Given the description of an element on the screen output the (x, y) to click on. 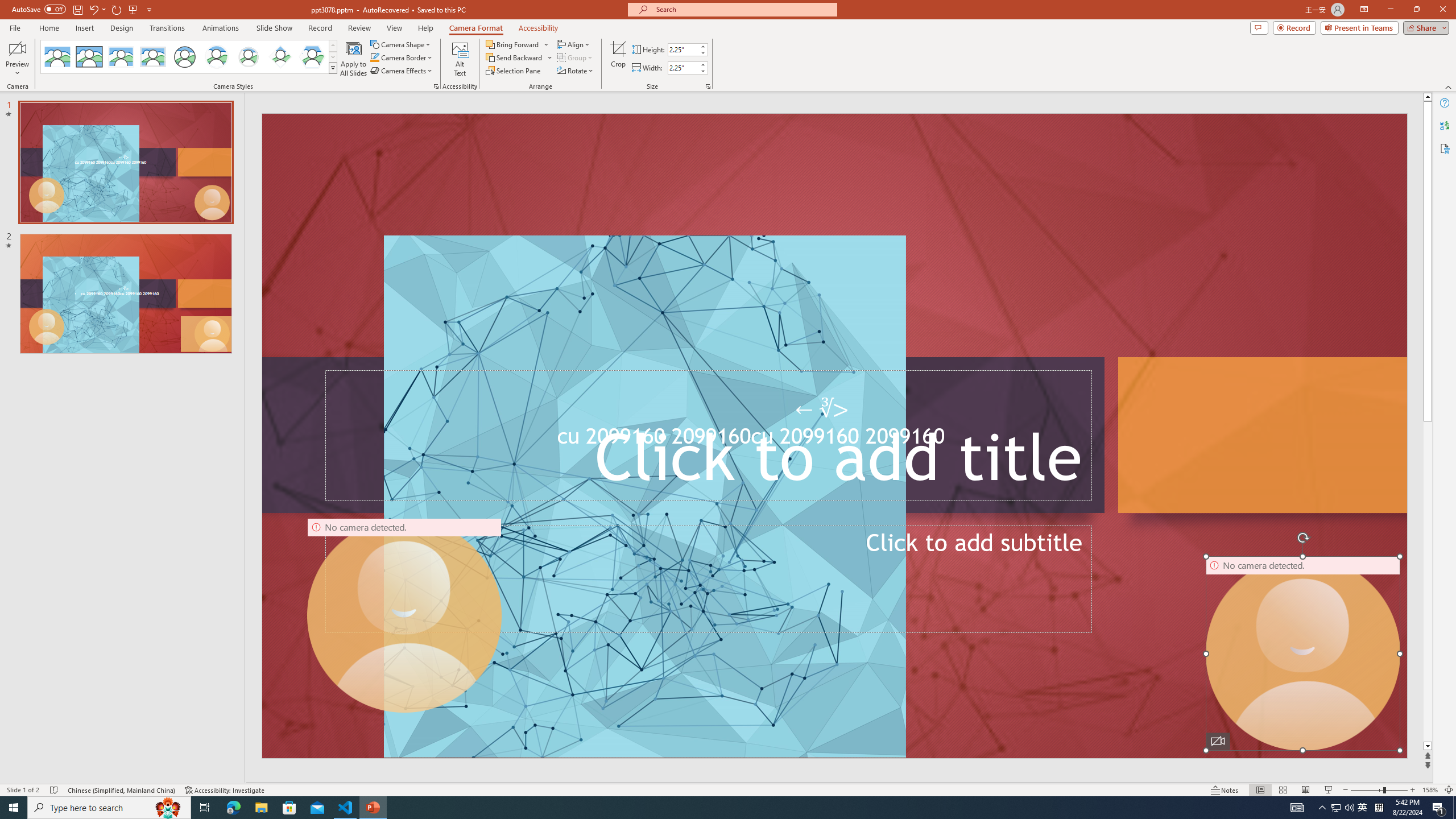
Send Backward (518, 56)
TextBox 7 (822, 409)
Cameo Height (682, 49)
Bring Forward (513, 44)
Camera Shape (400, 44)
Align (574, 44)
